Given the description of an element on the screen output the (x, y) to click on. 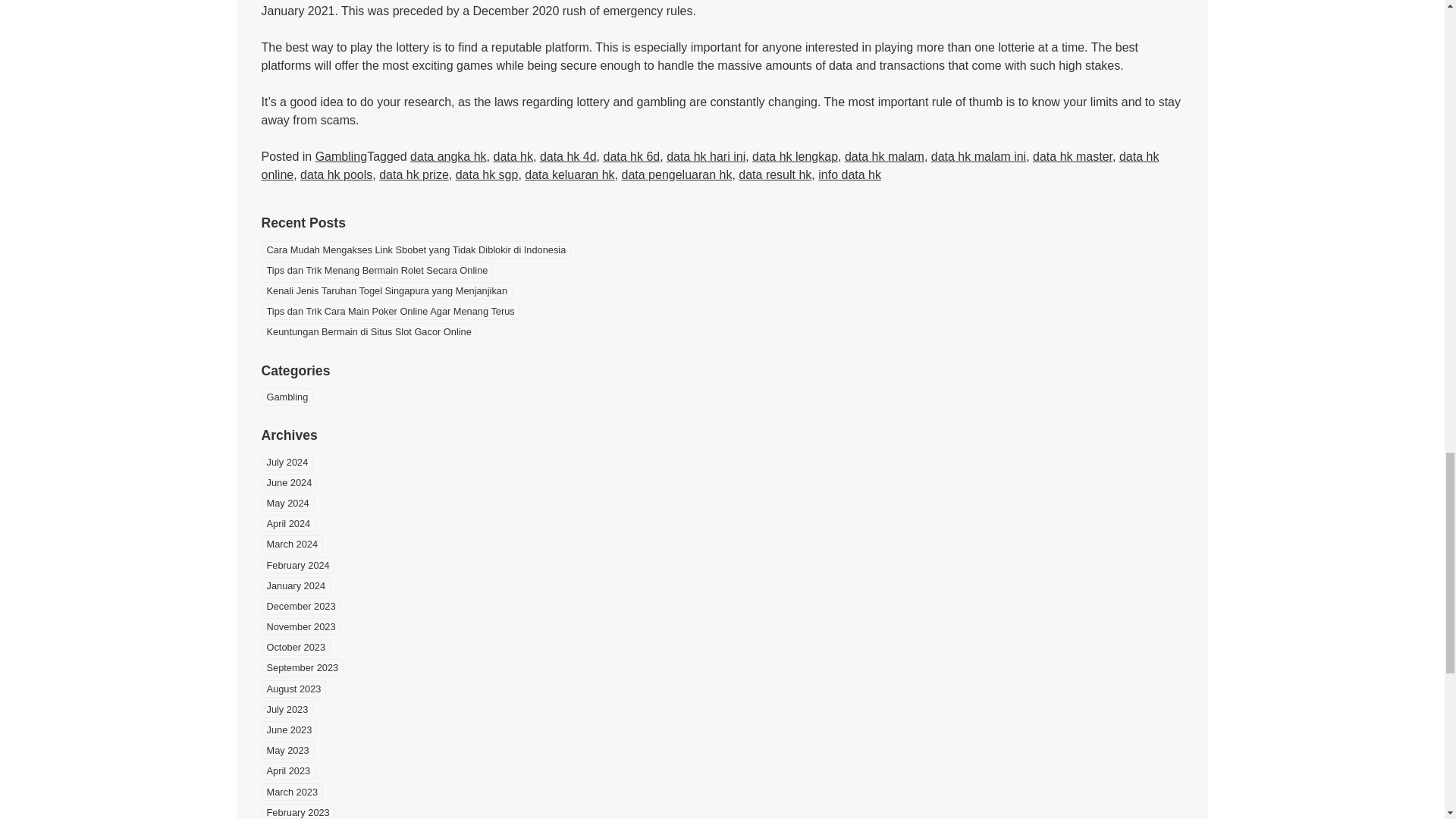
data hk malam (884, 155)
Gambling (340, 155)
data hk hari ini (705, 155)
data hk 4d (568, 155)
data hk malam ini (978, 155)
data hk 6d (632, 155)
data hk lengkap (795, 155)
data hk master (1072, 155)
data hk (512, 155)
data angka hk (448, 155)
